Given the description of an element on the screen output the (x, y) to click on. 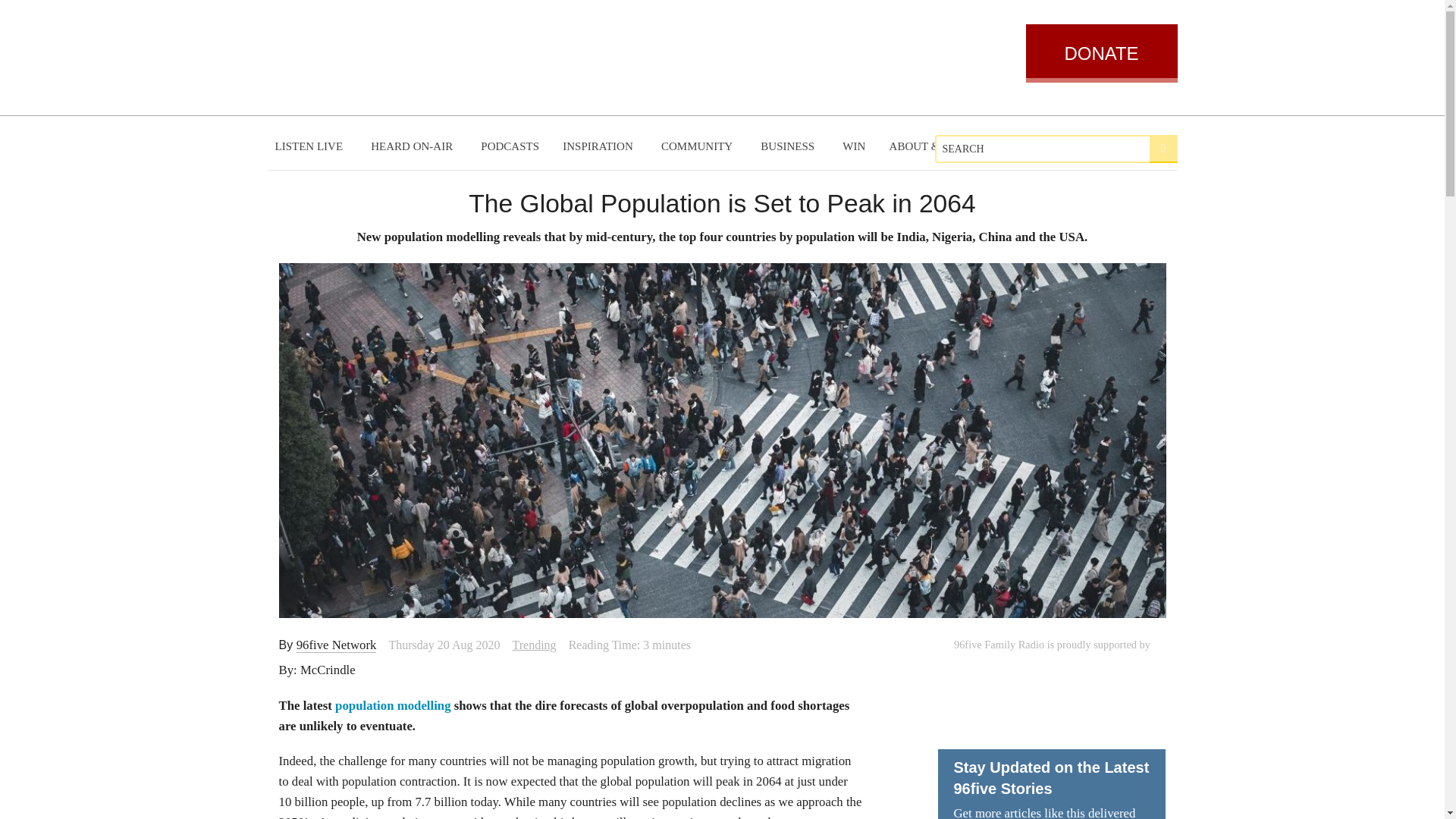
DONATE (1100, 53)
BUSINESS (789, 146)
HEARD ON-AIR (413, 146)
LISTEN LIVE (310, 146)
COMMUNITY (698, 146)
INSPIRATION (599, 146)
PODCASTS (510, 146)
